Given the description of an element on the screen output the (x, y) to click on. 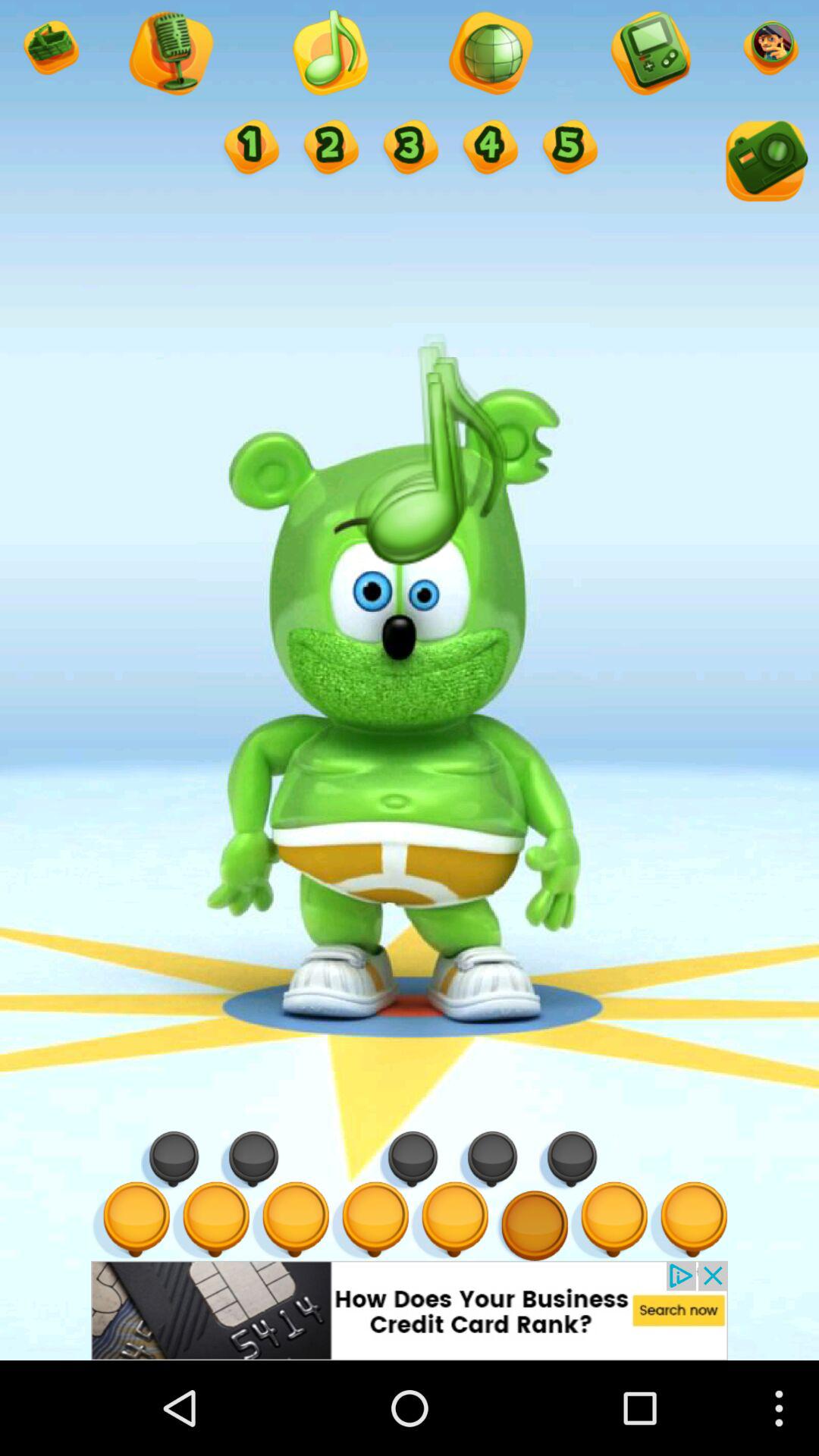
number icon (249, 149)
